Given the description of an element on the screen output the (x, y) to click on. 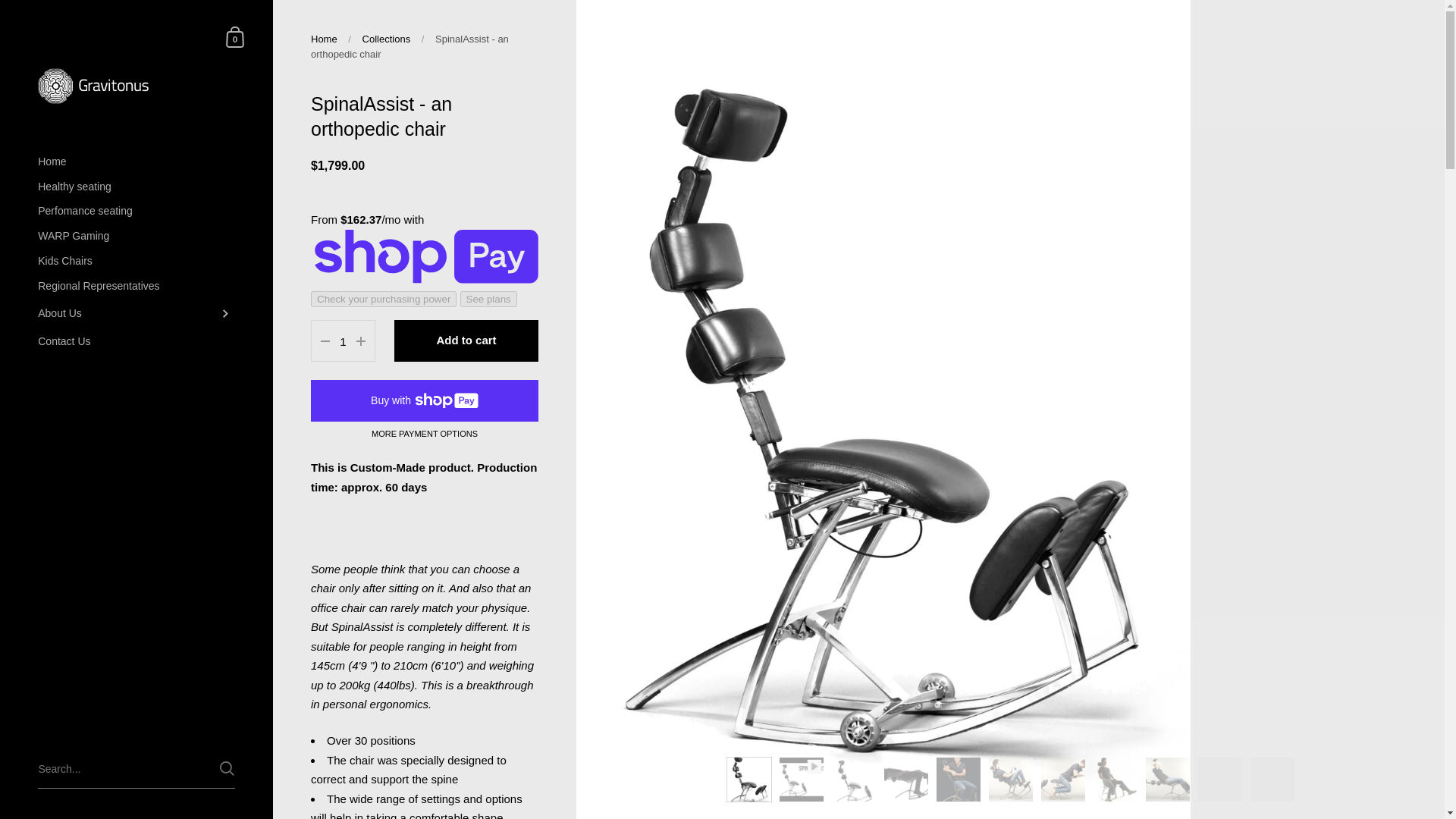
Regional Representatives (136, 285)
0 (235, 35)
Perfomance seating (136, 211)
Add to cart (466, 340)
About Us (136, 313)
Shopping Cart (235, 35)
Contact Us (136, 341)
WARP Gaming (136, 235)
MORE PAYMENT OPTIONS (424, 433)
Collections (386, 39)
